Given the description of an element on the screen output the (x, y) to click on. 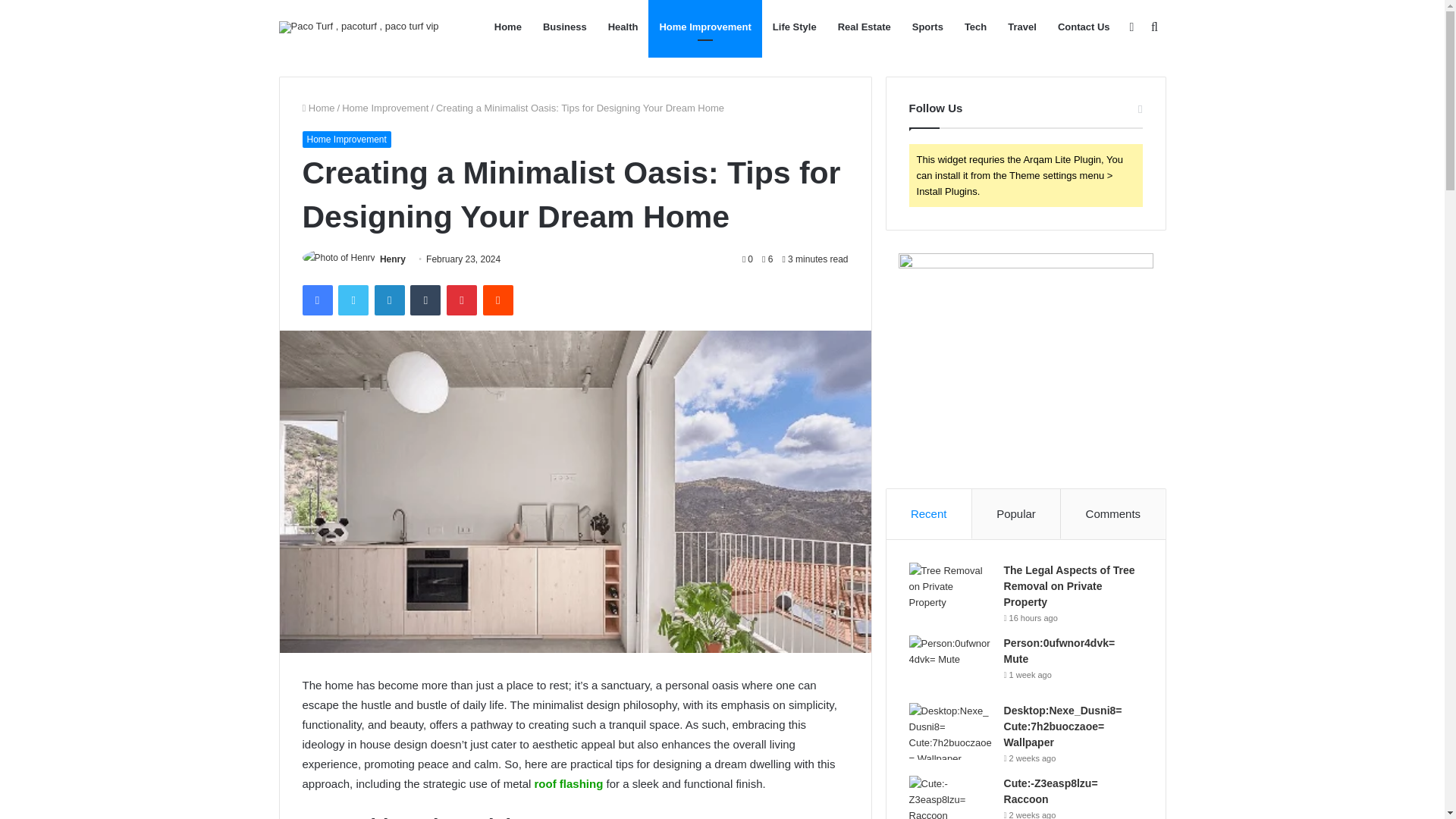
Sports (927, 27)
Home Improvement (385, 107)
LinkedIn (389, 300)
Real Estate (864, 27)
Facebook (316, 300)
Home Improvement (704, 27)
Facebook (316, 300)
Health (622, 27)
Reddit (498, 300)
Home Improvement (345, 139)
